Given the description of an element on the screen output the (x, y) to click on. 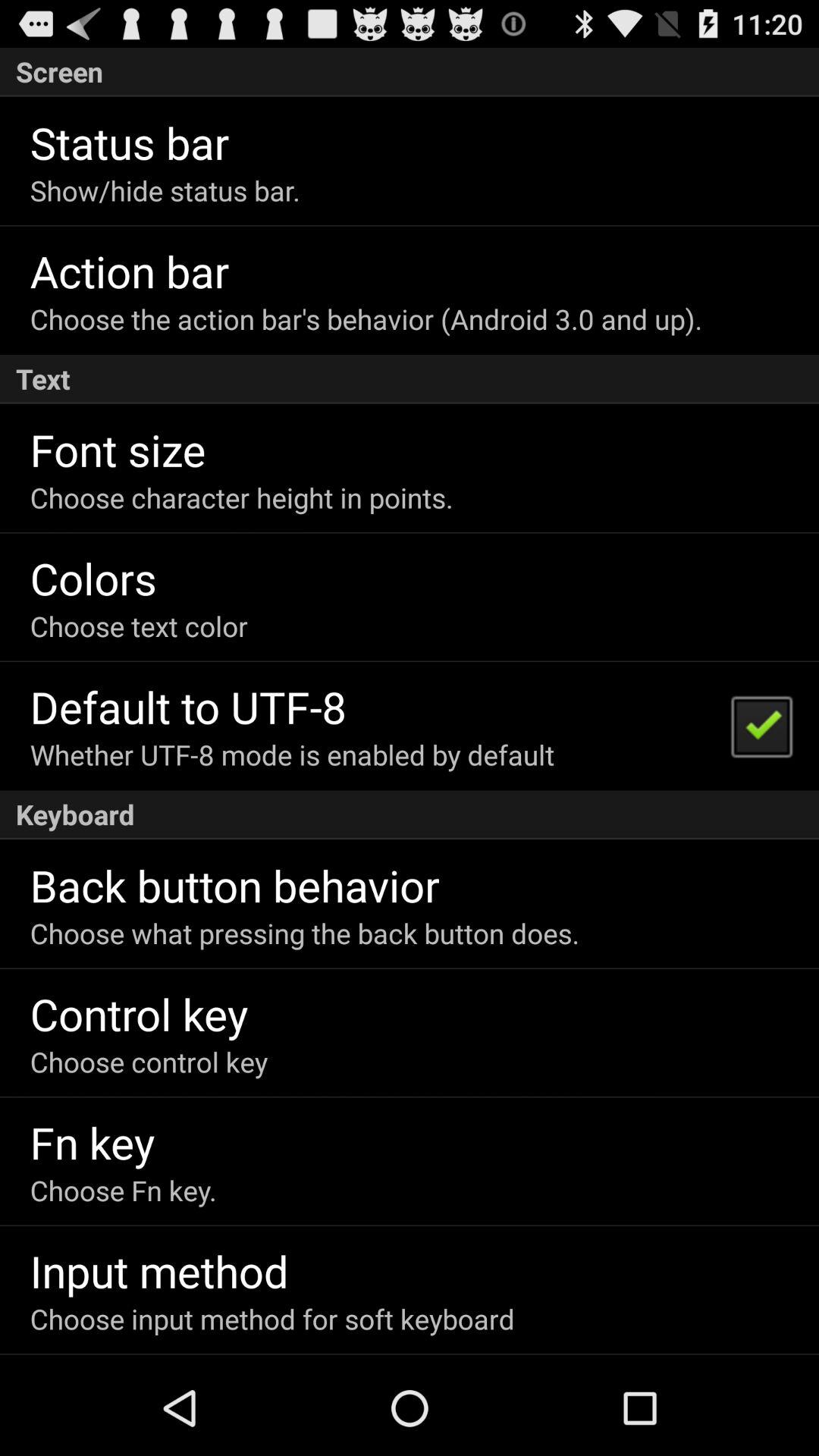
turn on the app below the text icon (117, 449)
